Given the description of an element on the screen output the (x, y) to click on. 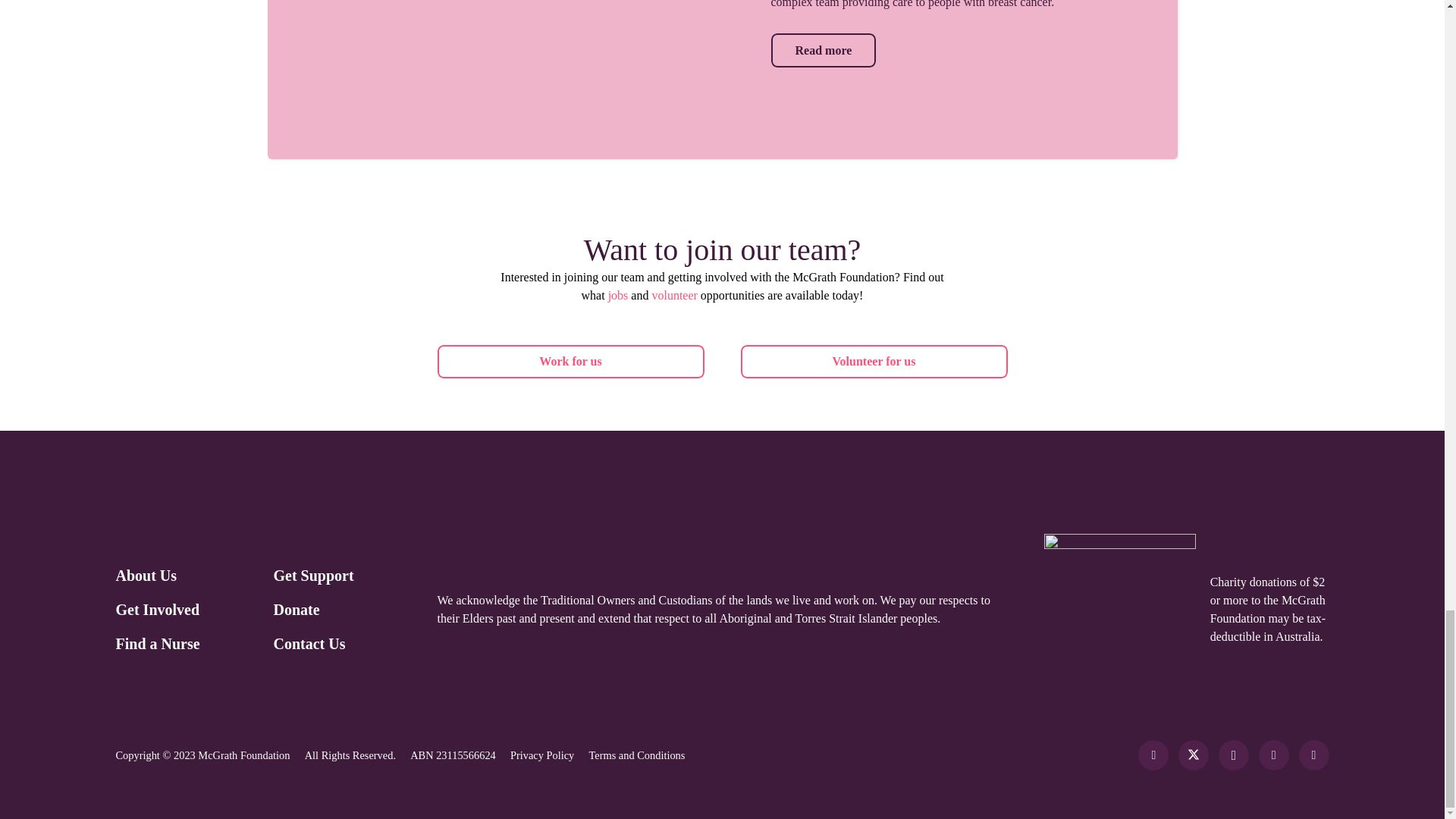
Instagram (1233, 755)
Work For Us (873, 361)
Twitter (1192, 755)
Work For Us (569, 361)
What We Do (823, 50)
LinkedIn (1273, 755)
Facebook (1153, 755)
YouTube (1312, 755)
